Given the description of an element on the screen output the (x, y) to click on. 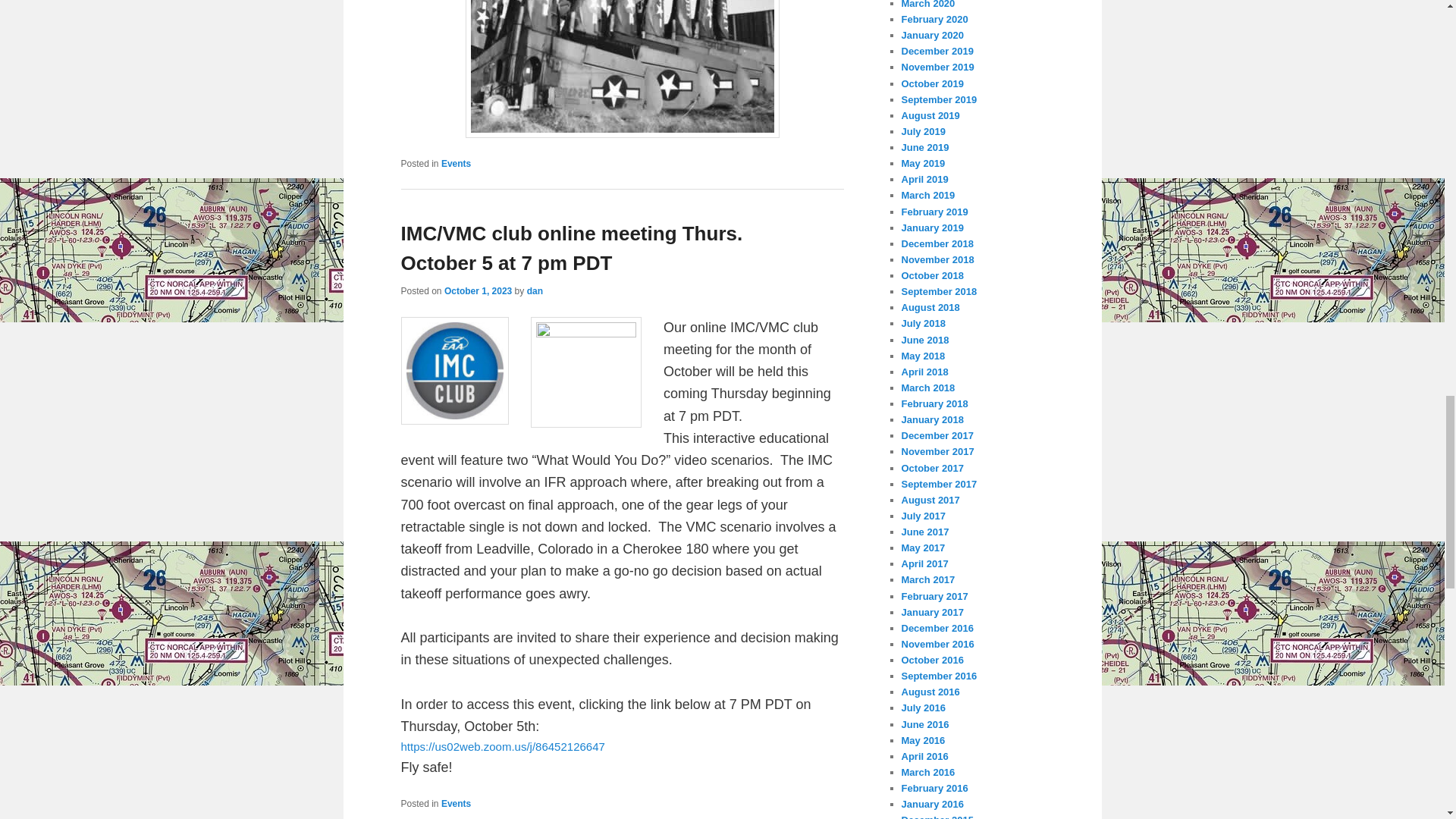
10:36 (478, 290)
dan (535, 290)
View all posts by dan (535, 290)
October 1, 2023 (478, 290)
Events (455, 163)
Events (455, 803)
